Given the description of an element on the screen output the (x, y) to click on. 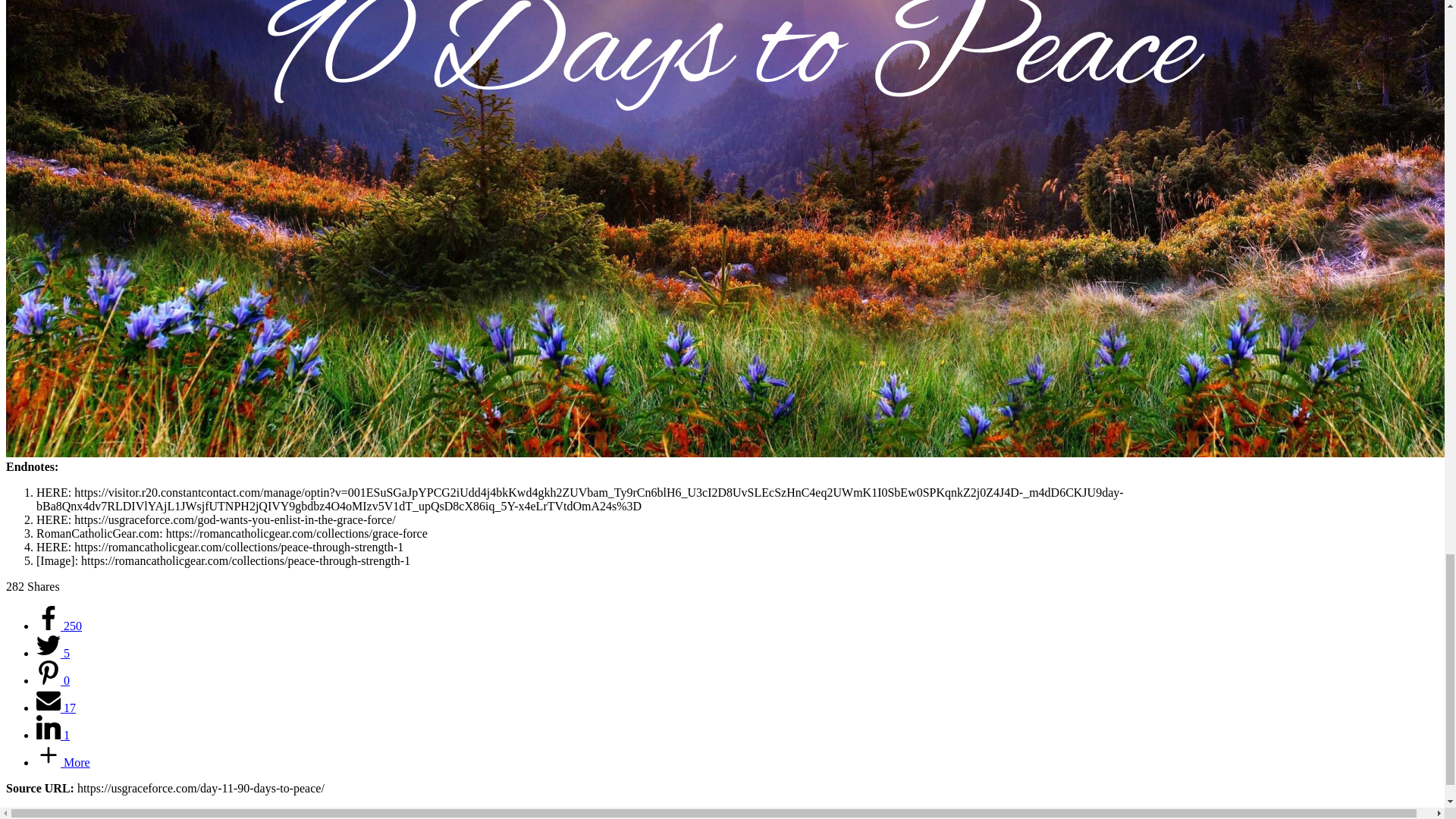
More (63, 762)
0 (52, 680)
17 (55, 707)
1 (52, 735)
5 (52, 653)
250 (58, 625)
